Given the description of an element on the screen output the (x, y) to click on. 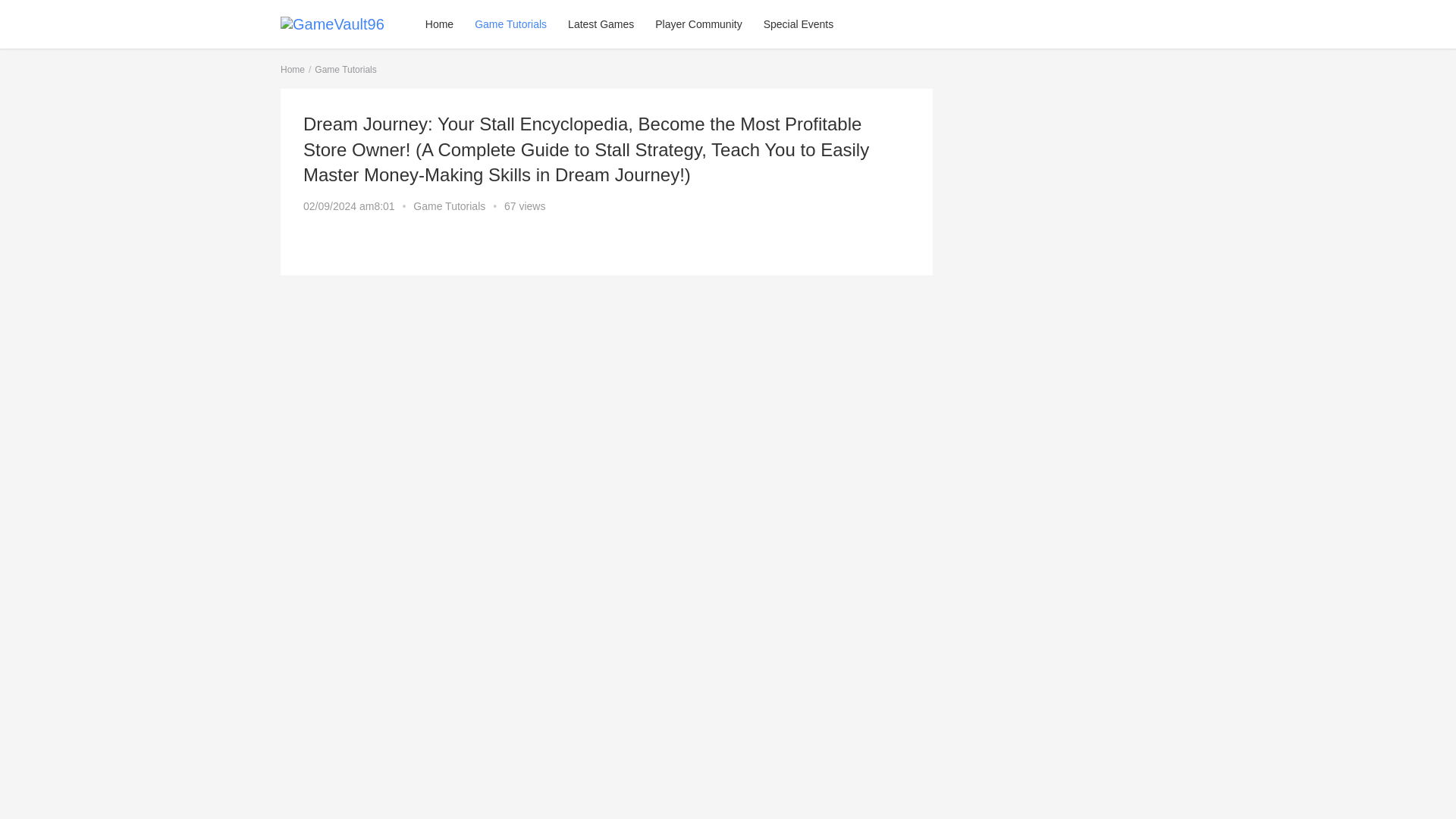
Special Events (798, 24)
Home (439, 24)
Game Tutorials (510, 24)
Player Community (698, 24)
Home (292, 69)
Game Tutorials (448, 205)
Game Tutorials (344, 69)
Latest Games (601, 24)
